Given the description of an element on the screen output the (x, y) to click on. 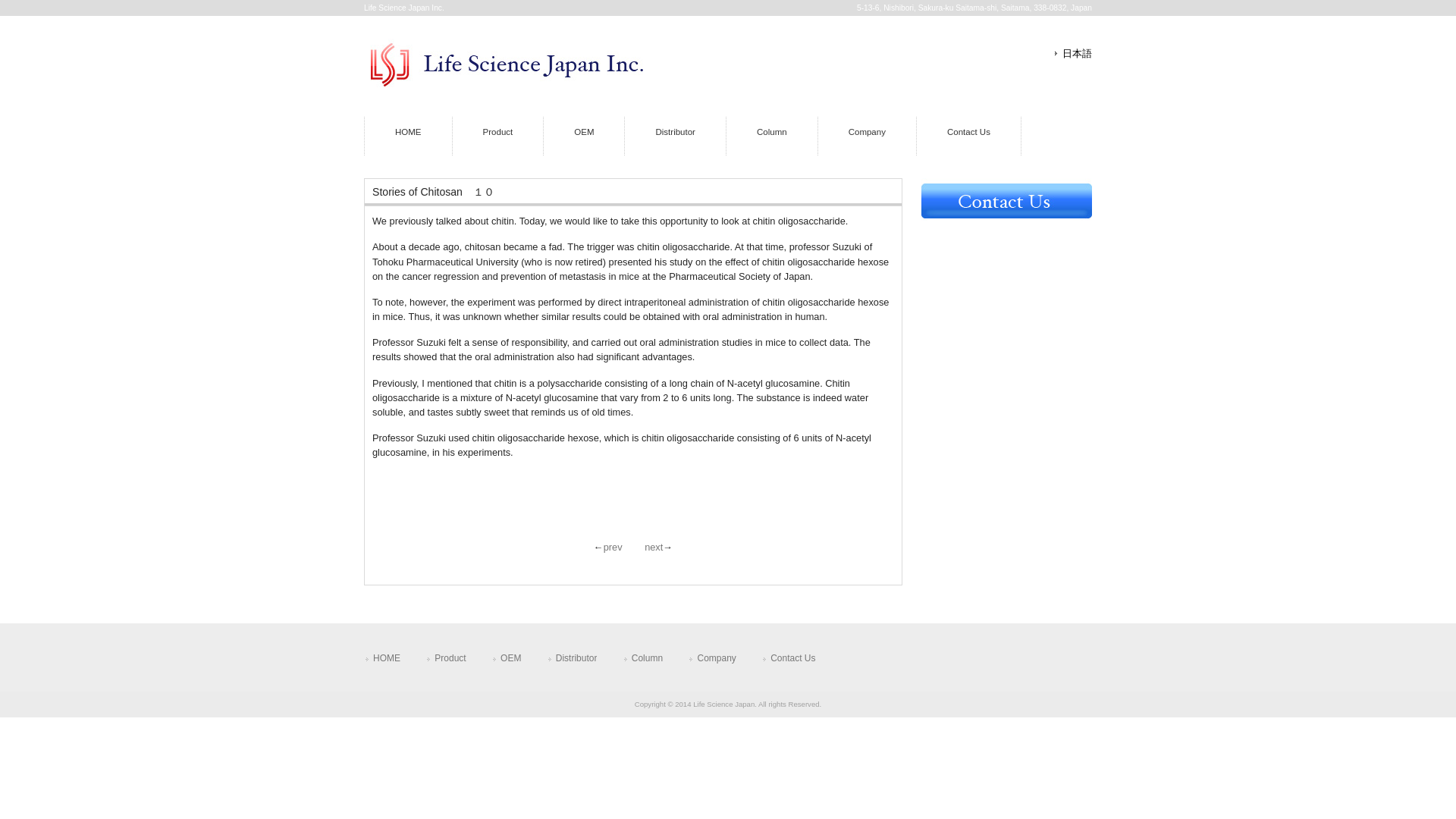
Company (866, 136)
Column (642, 658)
Contact Us (788, 658)
Contact Us (968, 136)
Column (771, 136)
HOME (408, 136)
Product (497, 136)
OEM (506, 658)
Company (711, 658)
OEM (583, 136)
